Given the description of an element on the screen output the (x, y) to click on. 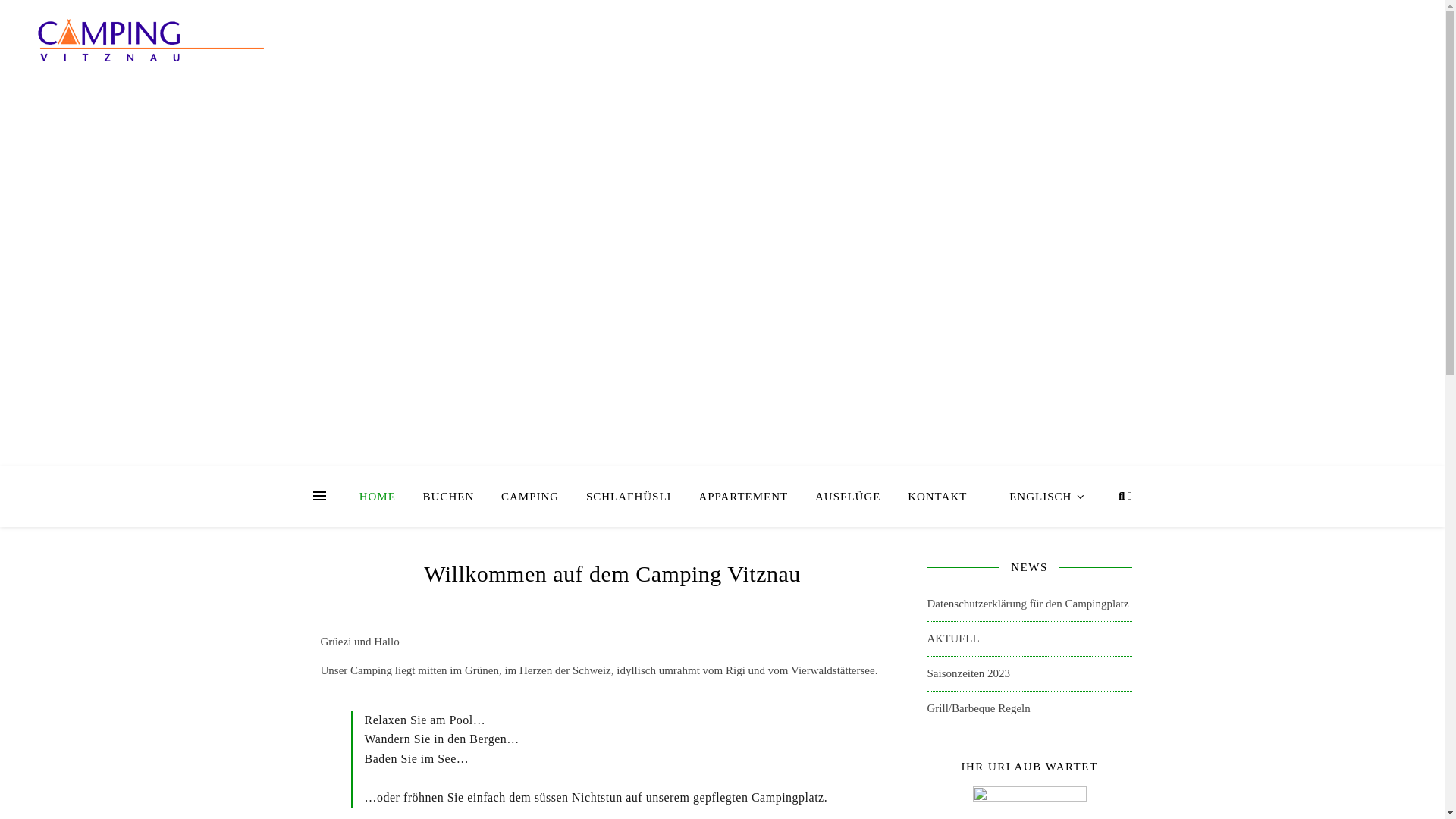
BUCHEN Element type: text (448, 497)
HOME Element type: text (383, 497)
Saisonzeiten 2023 Element type: text (968, 673)
Grill/Barbeque Regeln Element type: text (977, 708)
AKTUELL Element type: text (952, 638)
CAMPING Element type: text (530, 497)
KONTAKT Element type: text (937, 497)
APPARTEMENT Element type: text (743, 497)
ENGLISCH Element type: text (1033, 496)
